Given the description of an element on the screen output the (x, y) to click on. 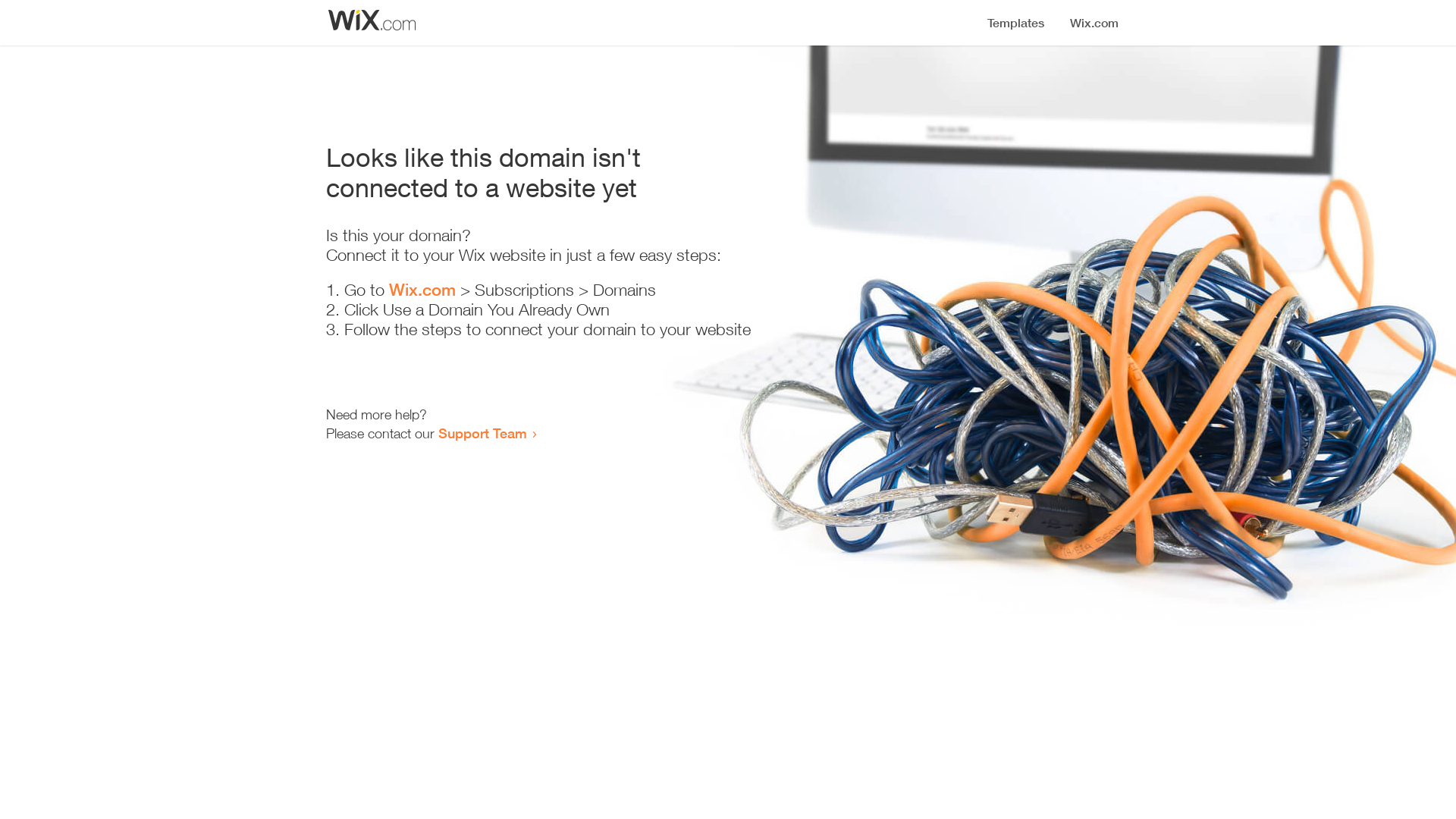
Wix.com Element type: text (422, 289)
Support Team Element type: text (482, 432)
